Given the description of an element on the screen output the (x, y) to click on. 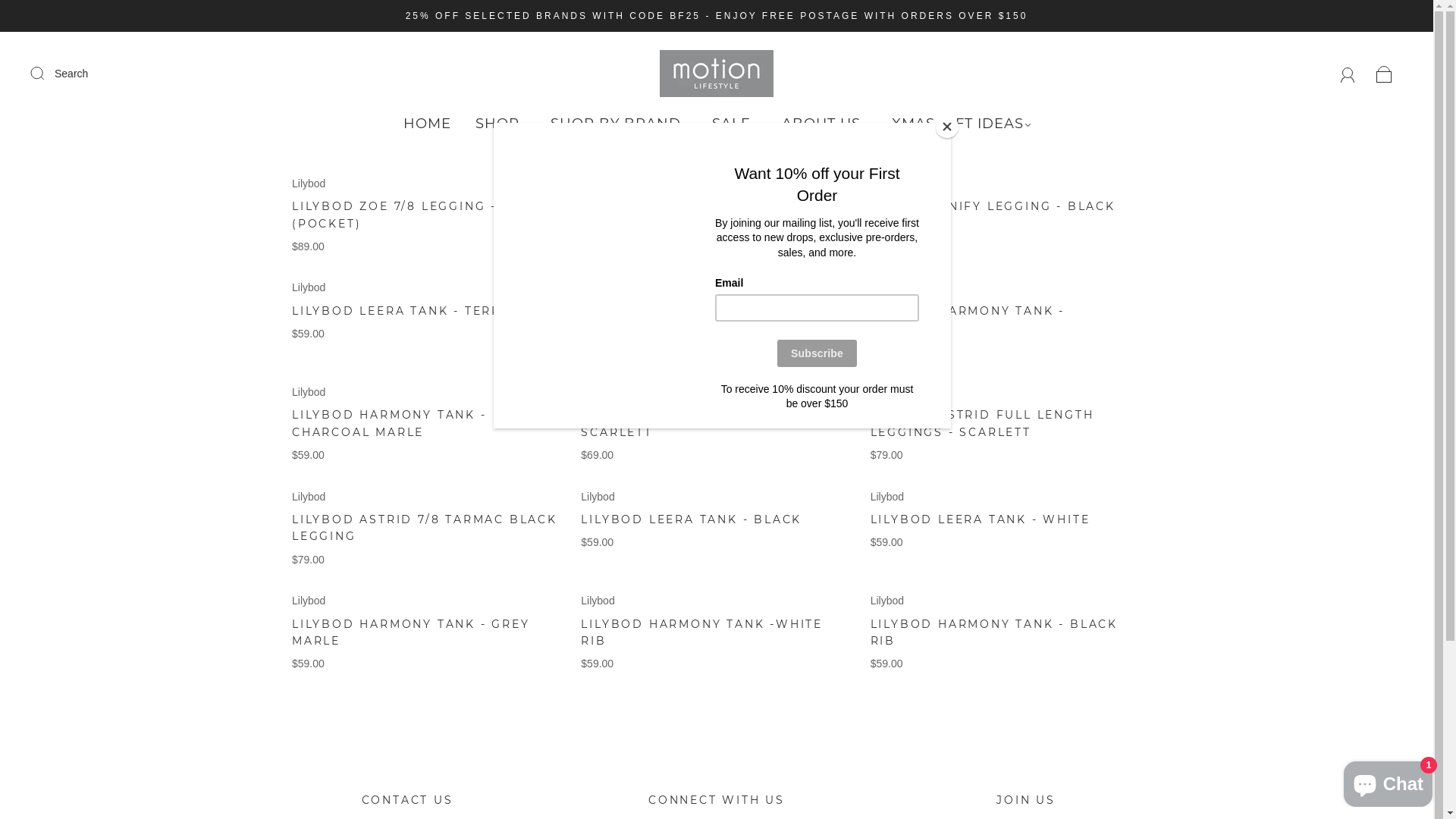
Lilybod Element type: text (886, 183)
Lilybod Element type: text (308, 496)
LILYBOD ASTRID SPORTS BRA SCARLETT Element type: text (689, 422)
Lilybod Element type: text (886, 496)
LILYBOD UNIFY SPORTS BRA - BLACK Element type: text (690, 214)
LILYBOD ZOE 7/8 LEGGING - BLACK (POCKET) Element type: text (420, 214)
Lilybod Element type: text (597, 183)
Lilybod Element type: text (308, 600)
LILYBOD LEERA TANK - TERRACOTTA Element type: text (424, 310)
LILYBOD HARMONY TANK - SCARLETT Element type: text (967, 319)
LILYBOD LEERA TANK - OLIVE GREEN Element type: text (715, 310)
SALE Element type: text (733, 123)
Lilybod Element type: text (886, 391)
Lilybod Element type: text (308, 183)
SHOP Element type: text (499, 123)
Shopify online store chat Element type: hover (1388, 780)
XMAS GIFT IDEAS Element type: text (960, 123)
Lilybod Element type: text (308, 391)
Lilybod Element type: text (886, 600)
LILYBOD HARMONY TANK - CHARCOAL MARLE Element type: text (388, 422)
LILYBOD HARMONY TANK -WHITE RIB Element type: text (701, 632)
Lilybod Element type: text (597, 287)
Lilybod Element type: text (597, 391)
Lilybod Element type: text (886, 287)
Lilybod Element type: text (308, 287)
HOME Element type: text (427, 123)
Lilybod Element type: text (597, 600)
ABOUT US Element type: text (823, 123)
LILYBOD ASTRID 7/8 TARMAC BLACK LEGGING Element type: text (424, 527)
LILYBOD LEERA TANK - WHITE Element type: text (980, 519)
Lilybod Element type: text (597, 496)
LILYBOD UNIFY LEGGING - BLACK Element type: text (992, 206)
LILYBOD HARMONY TANK - GREY MARLE Element type: text (410, 632)
LILYBOD LEERA TANK - BLACK Element type: text (690, 519)
LILYBOD ASTRID FULL LENGTH LEGGINGS - SCARLETT Element type: text (982, 422)
LILYBOD HARMONY TANK - BLACK RIB Element type: text (993, 632)
SHOP BY BRAND Element type: text (618, 123)
